Given the description of an element on the screen output the (x, y) to click on. 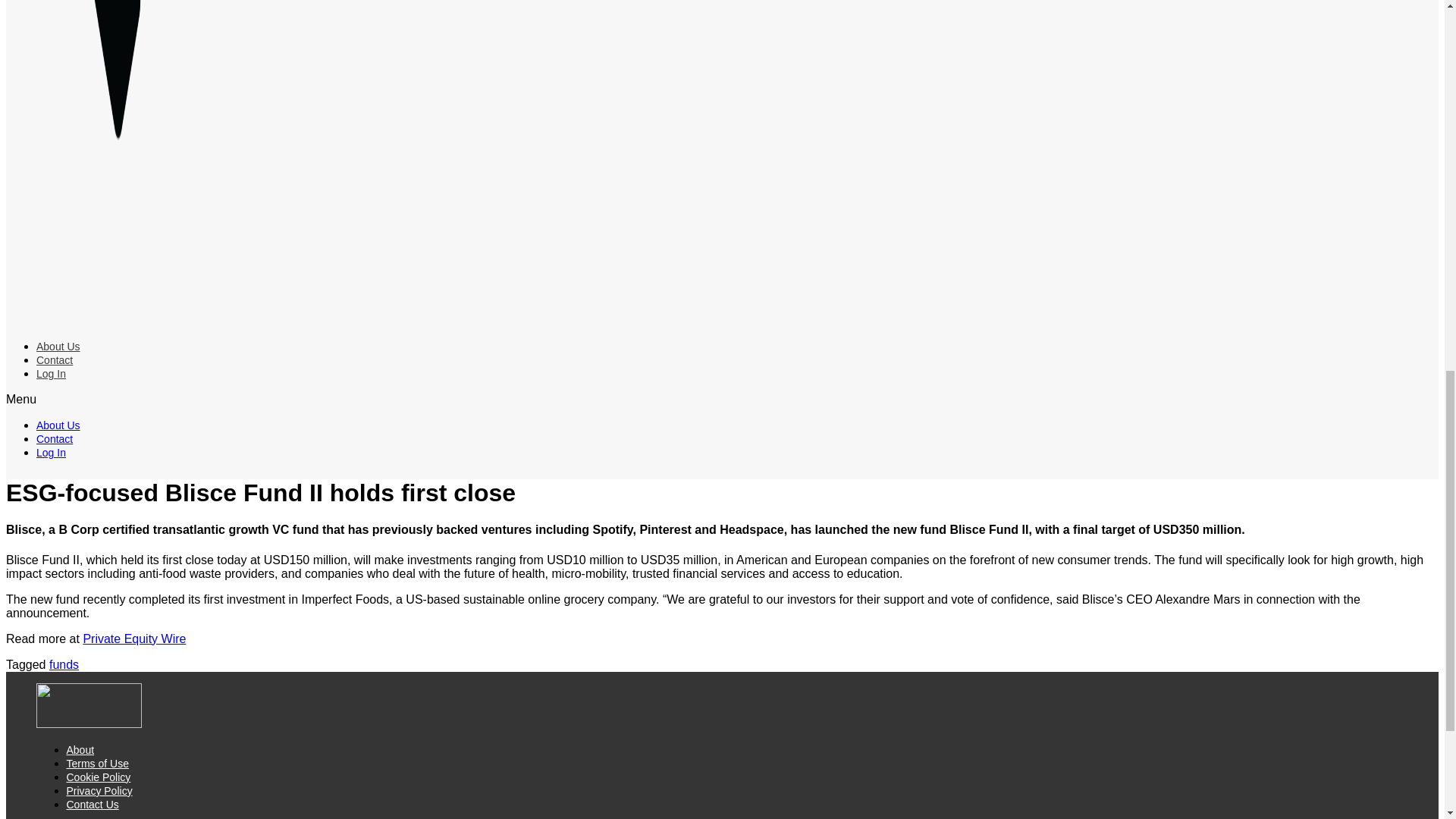
Contact (54, 439)
About (80, 749)
About Us (58, 346)
funds (63, 664)
Terms of Use (97, 763)
Log In (50, 452)
Cookie Policy (98, 776)
Log In (50, 373)
About Us (58, 425)
Contact (54, 359)
Privacy Policy (99, 790)
Private Equity Wire (134, 638)
Contact Us (92, 804)
